Given the description of an element on the screen output the (x, y) to click on. 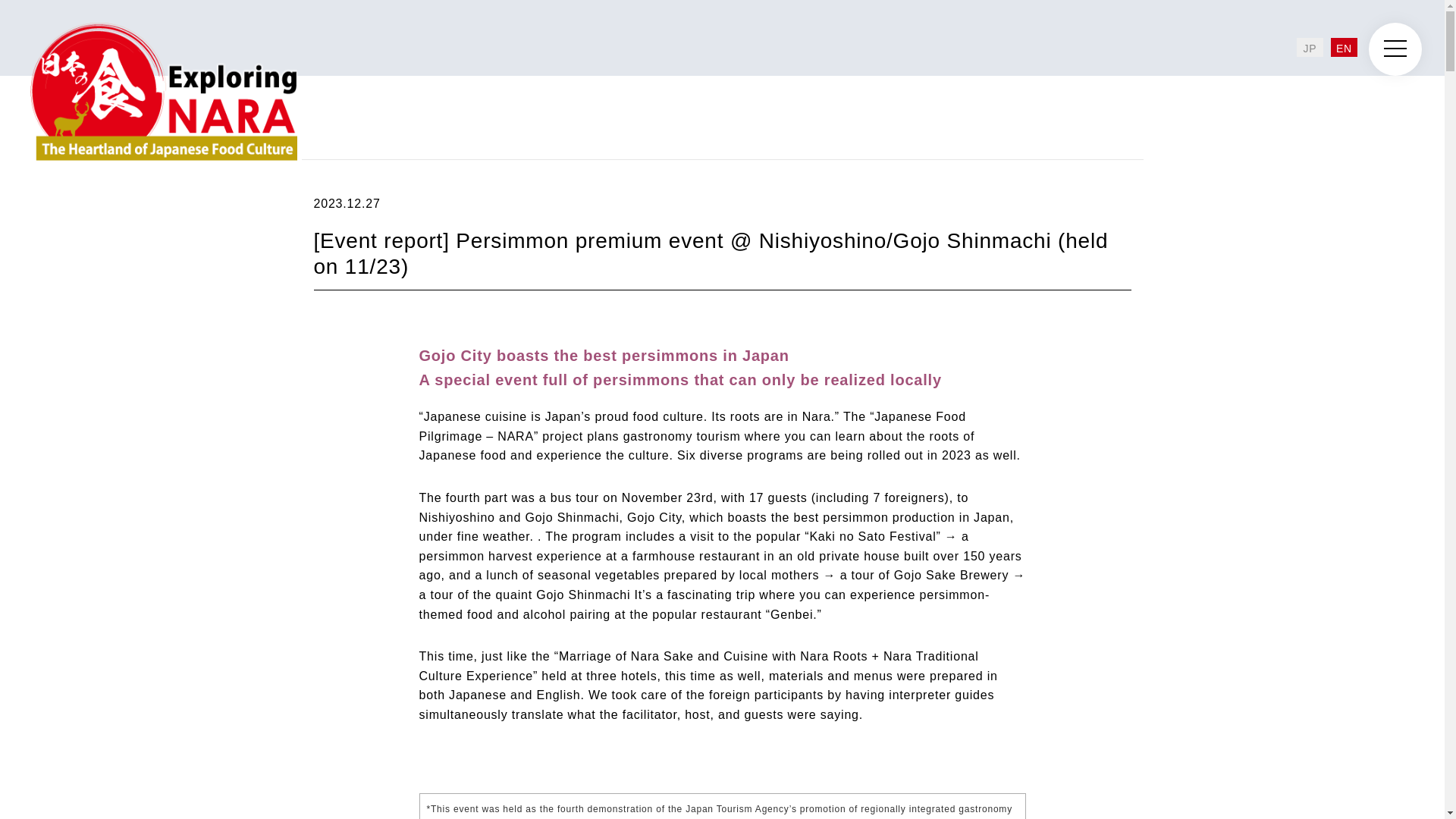
EN (1343, 46)
EN (1343, 46)
JP (1310, 46)
JP (1310, 46)
